Given the description of an element on the screen output the (x, y) to click on. 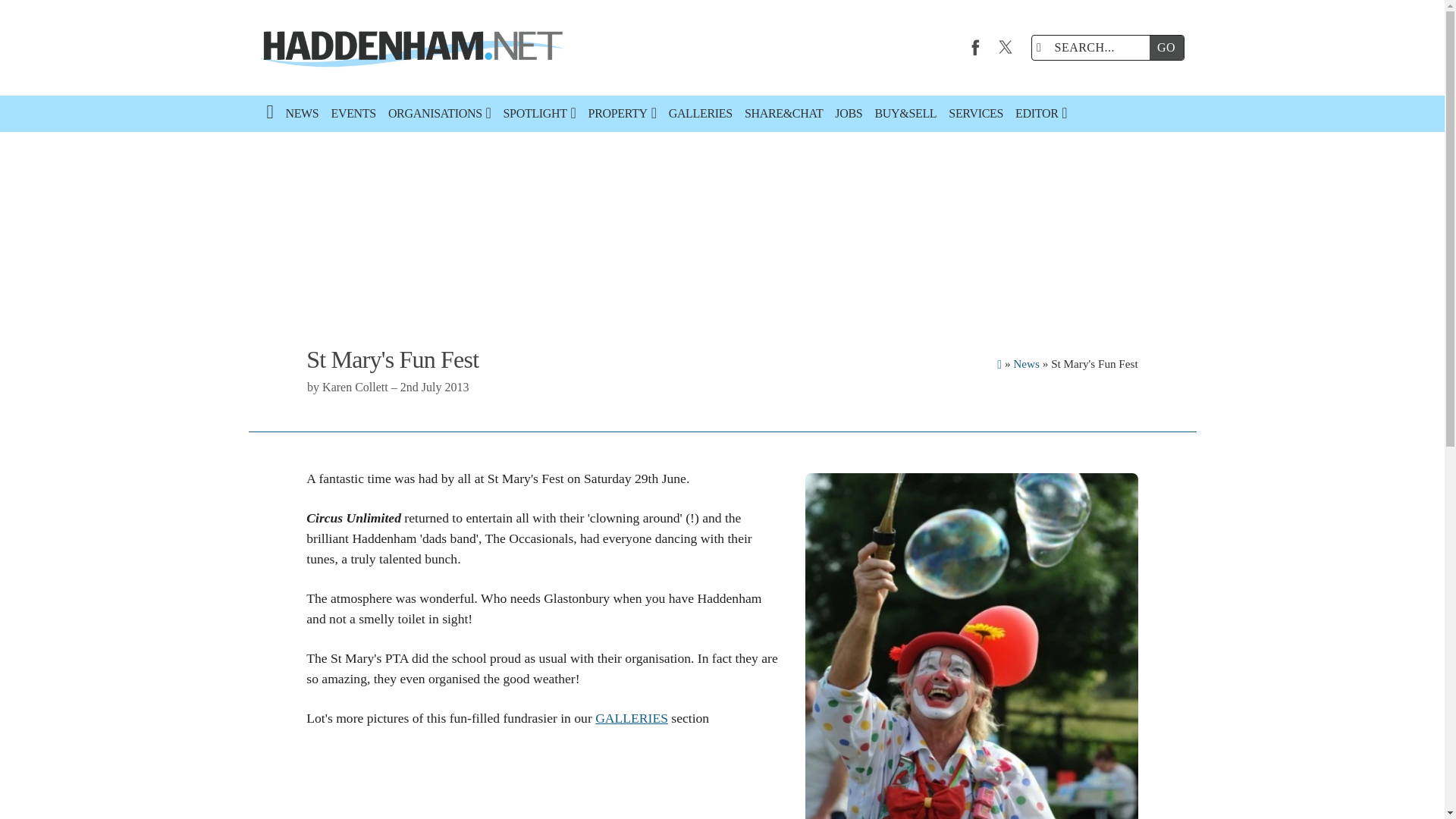
Visit our Facebook Page (975, 46)
News (1026, 363)
NEWS (301, 113)
GALLERIES (631, 717)
Visit our X Feed (1004, 46)
SEARCH... (1093, 47)
SPOTLIGHT (539, 113)
JOBS (847, 113)
